Given the description of an element on the screen output the (x, y) to click on. 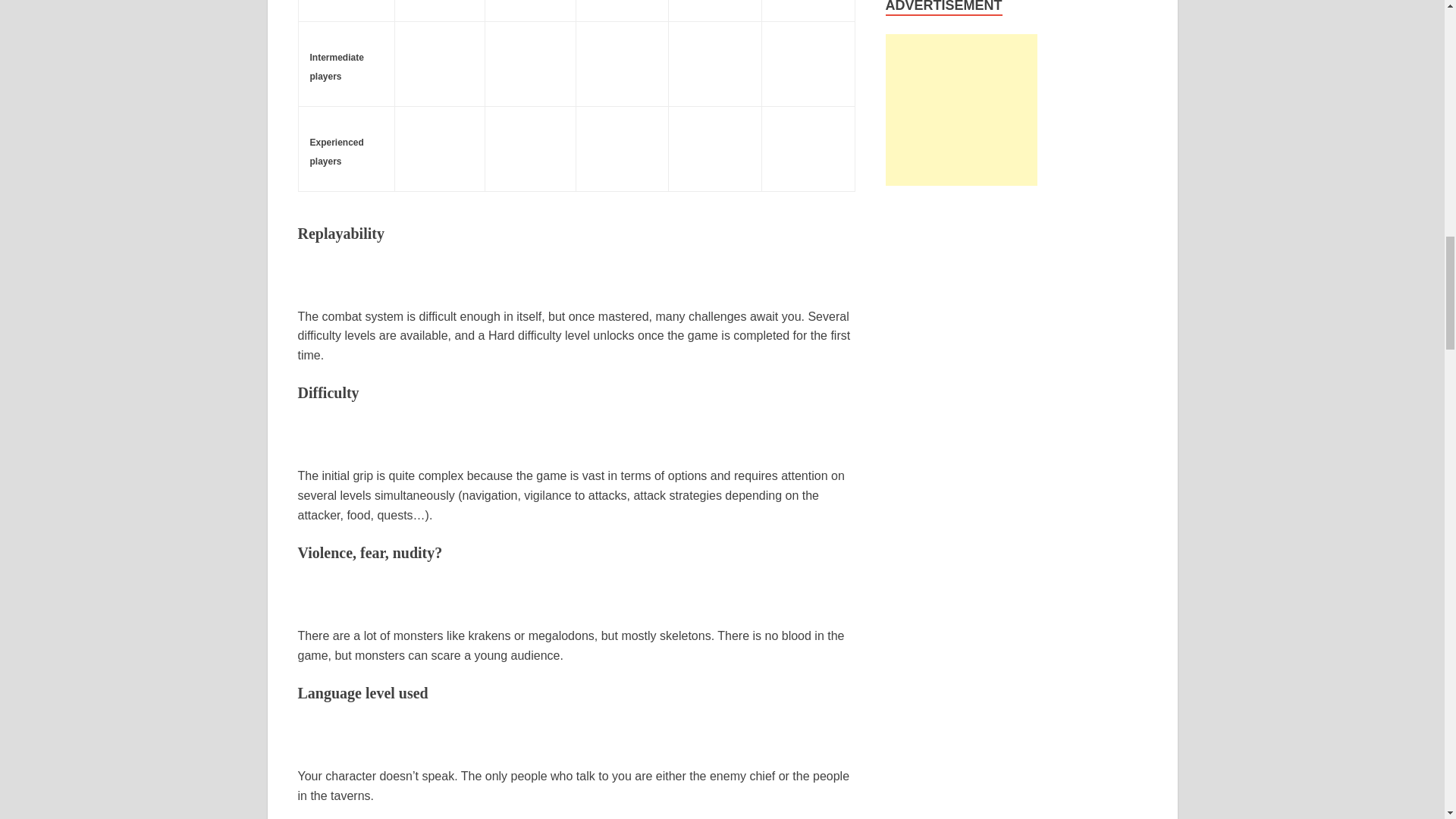
Review: Sea of Thieves 5 (714, 60)
Review: Sea of Thieves 3 (530, 60)
Review: Sea of Thieves 5 (808, 60)
Review: Sea of Thieves 5 (623, 60)
Review: Sea of Thieves 3 (440, 3)
Review: Sea of Thieves 3 (440, 60)
Review: Sea of Thieves 5 (808, 4)
Review: Sea of Thieves 5 (714, 4)
Review: Sea of Thieves 5 (623, 4)
Review: Sea of Thieves 3 (530, 3)
